Given the description of an element on the screen output the (x, y) to click on. 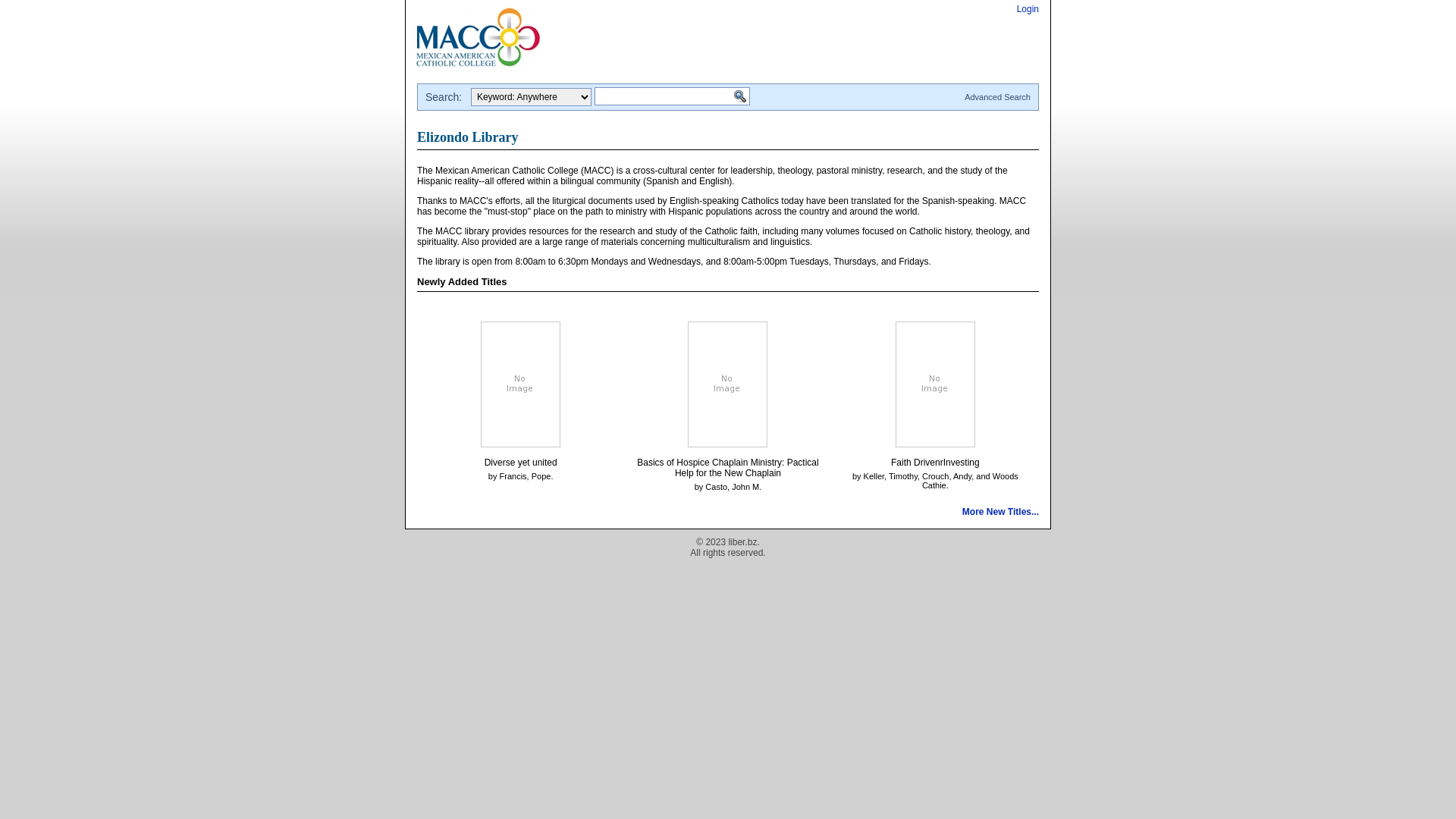
Advanced Search Element type: text (997, 96)
Diverse yet united
by Francis, Pope. Element type: text (520, 463)
Login Element type: text (1027, 8)
More New Titles... Element type: text (1000, 511)
Home Element type: hover (476, 35)
